Given the description of an element on the screen output the (x, y) to click on. 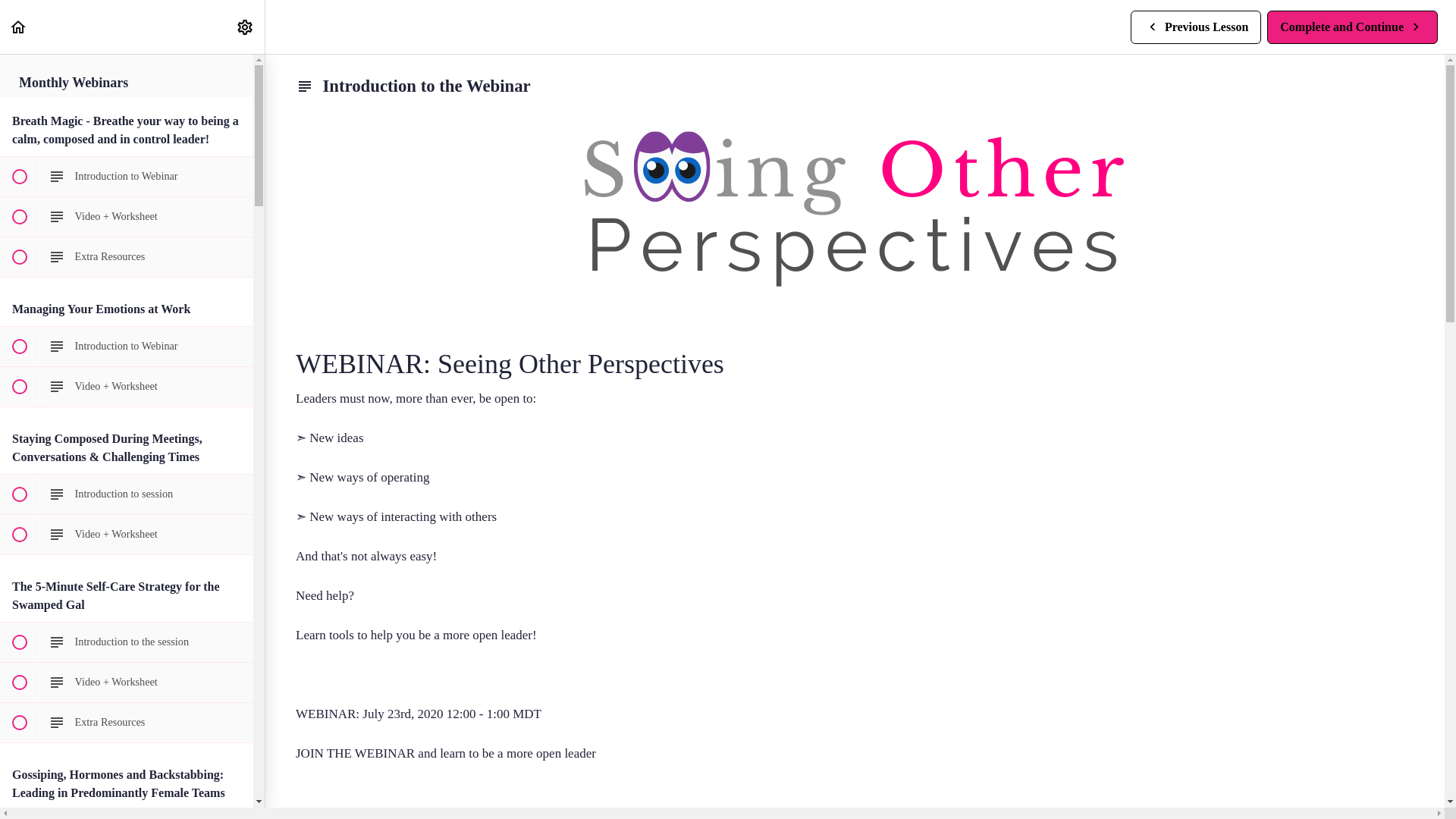
Back to course curriculum (1352, 26)
  Introduction to Webinar (17, 26)
  Extra Resources (126, 176)
  Previous Lesson (126, 256)
  Introduction to Webinar (1195, 26)
  Extra Resources (126, 346)
  Introduction to session (126, 722)
  Introduction to the session (126, 494)
Settings Menu (126, 641)
